Given the description of an element on the screen output the (x, y) to click on. 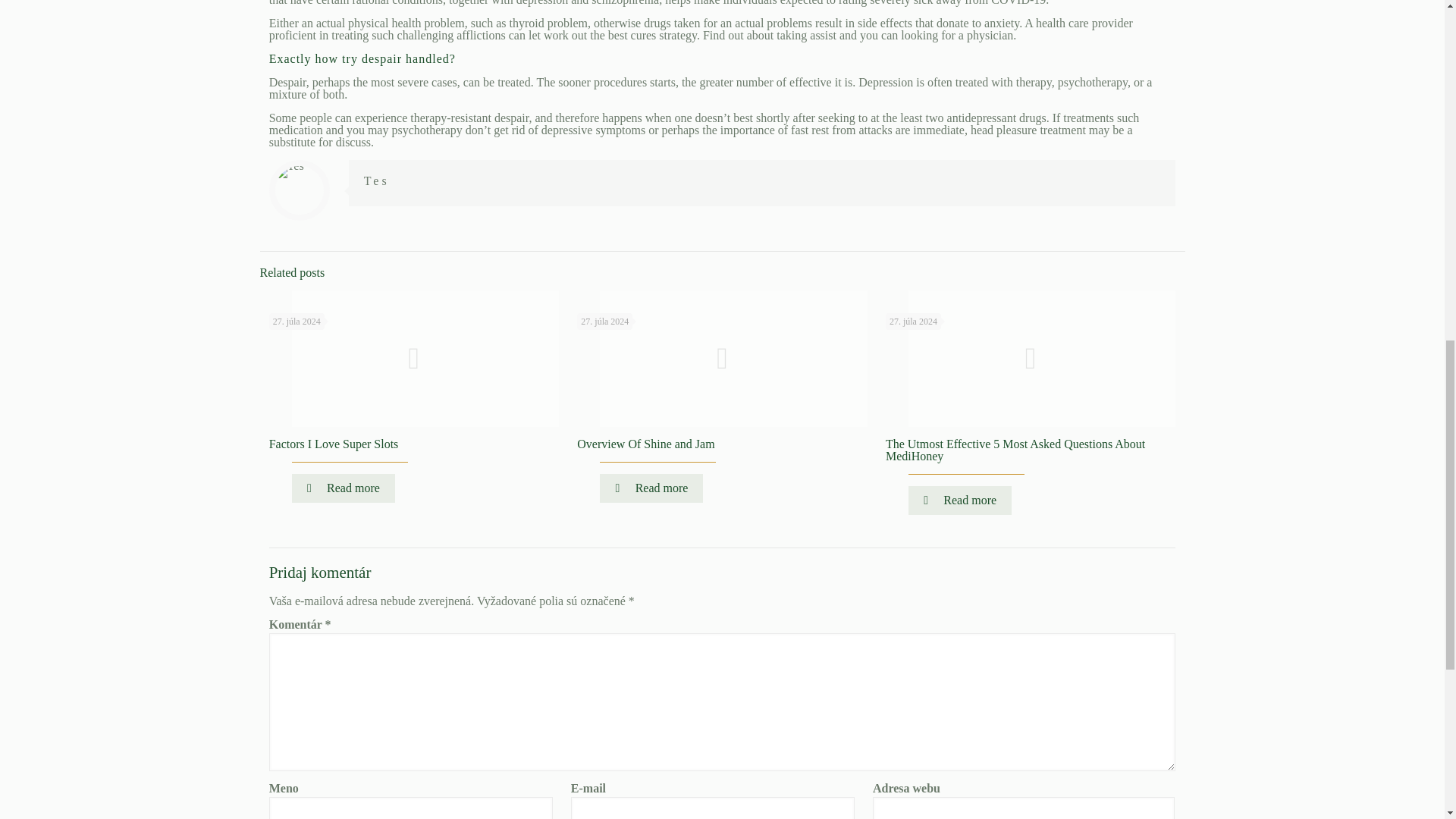
Factors I Love Super Slots (333, 443)
Read more (651, 488)
The Utmost Effective 5 Most Asked Questions About MediHoney (1014, 449)
Tes (377, 180)
Overview Of Shine and Jam (645, 443)
Read more (343, 488)
